Given the description of an element on the screen output the (x, y) to click on. 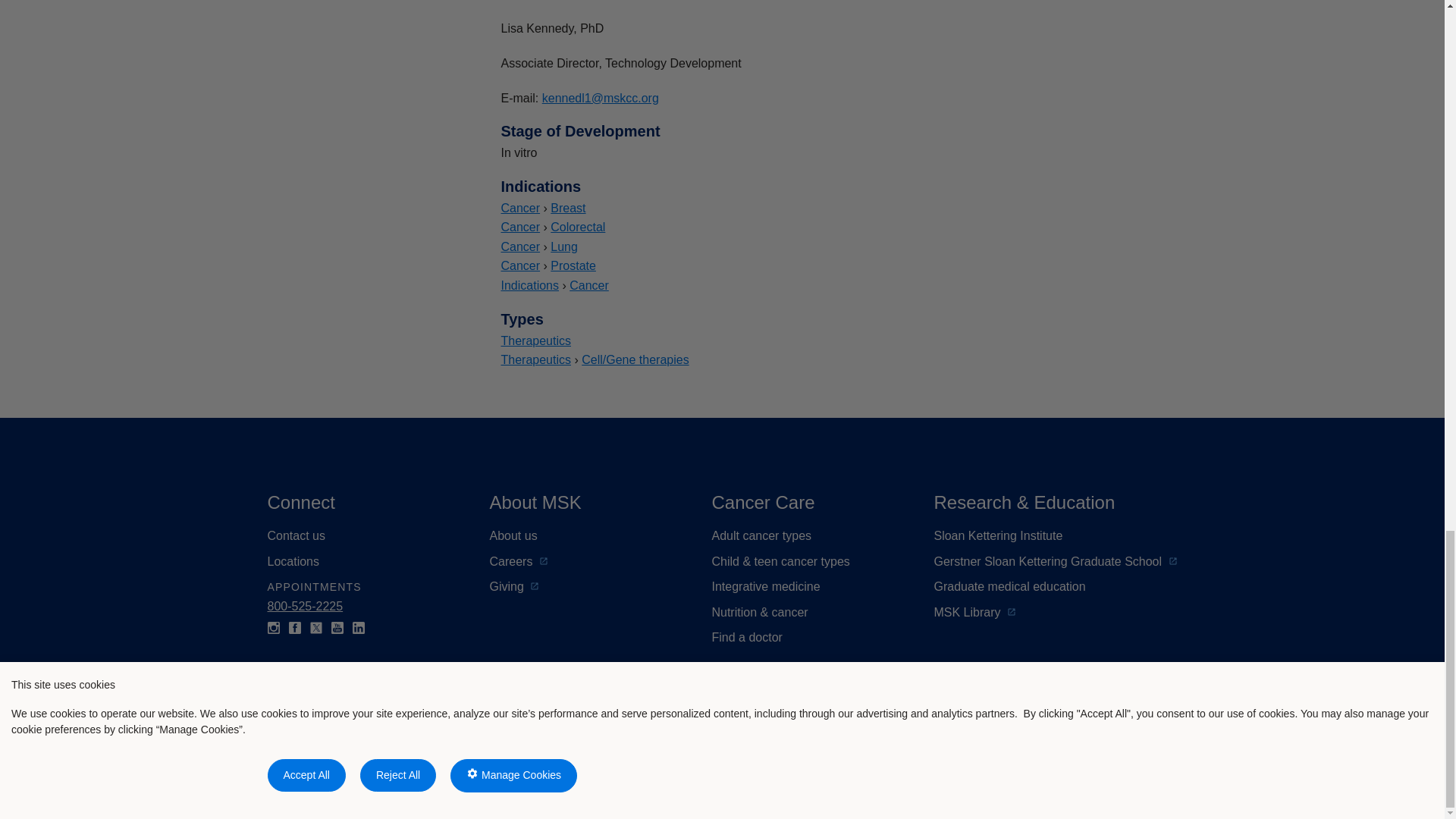
Memorial Sloan Kettering Cancer Center (409, 750)
